Given the description of an element on the screen output the (x, y) to click on. 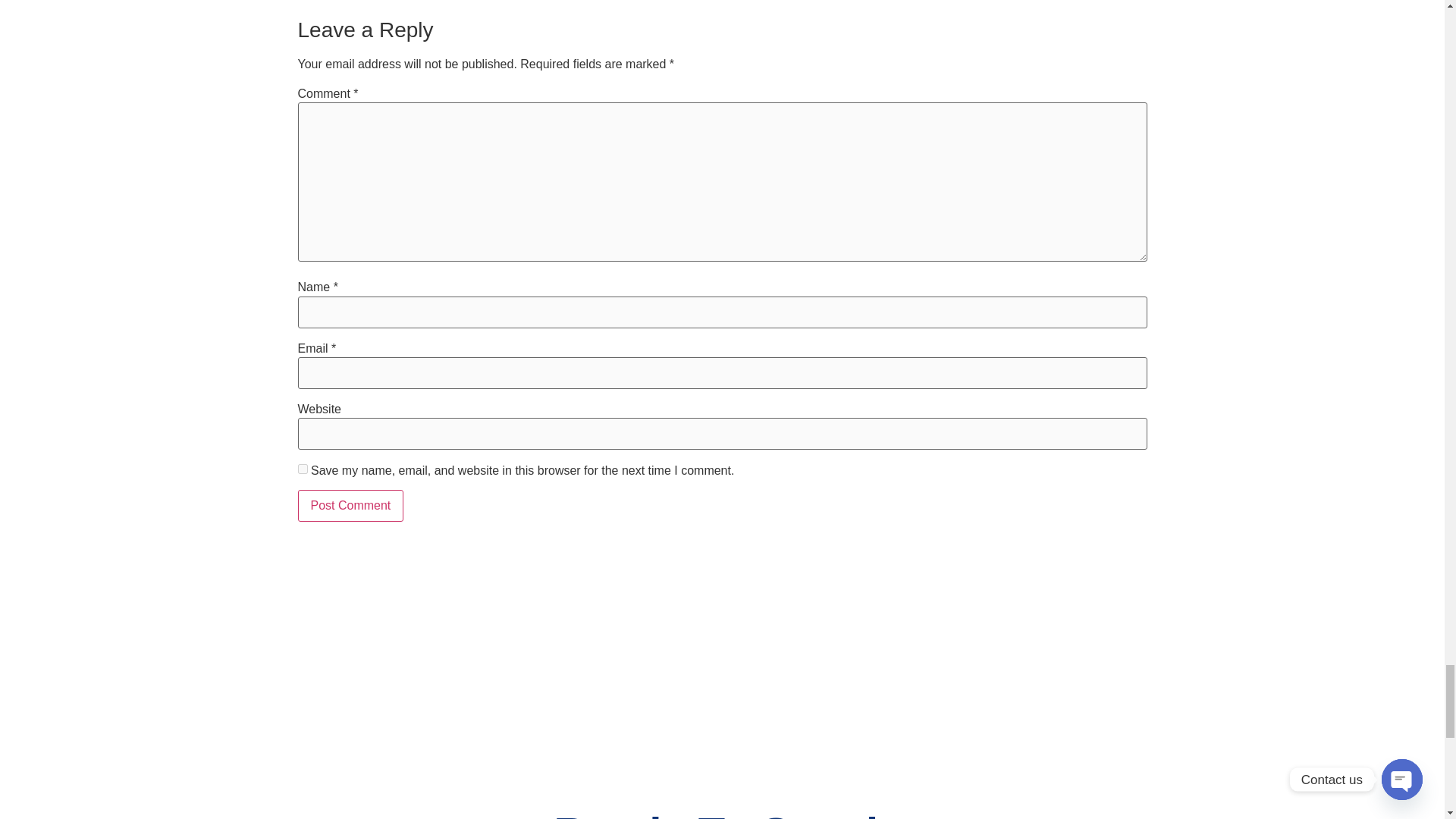
Post Comment (350, 505)
yes (302, 469)
